Given the description of an element on the screen output the (x, y) to click on. 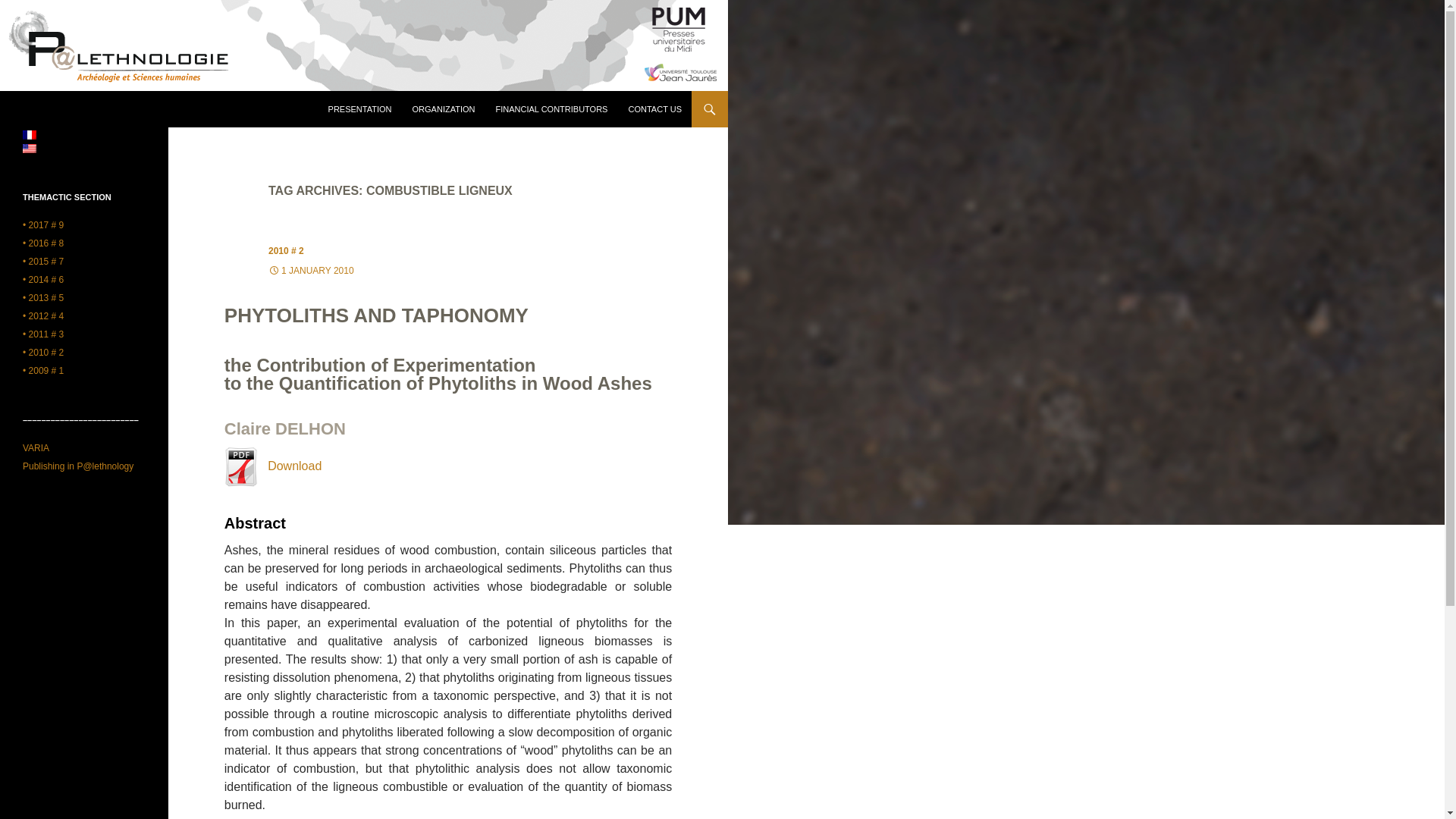
1 JANUARY 2010 (310, 270)
PRESENTATION (359, 108)
PALETHNOLOGIE (81, 108)
CONTACT US (654, 108)
FINANCIAL CONTRIBUTORS (551, 108)
VARIA (36, 448)
   Download (272, 465)
ORGANIZATION (443, 108)
